Given the description of an element on the screen output the (x, y) to click on. 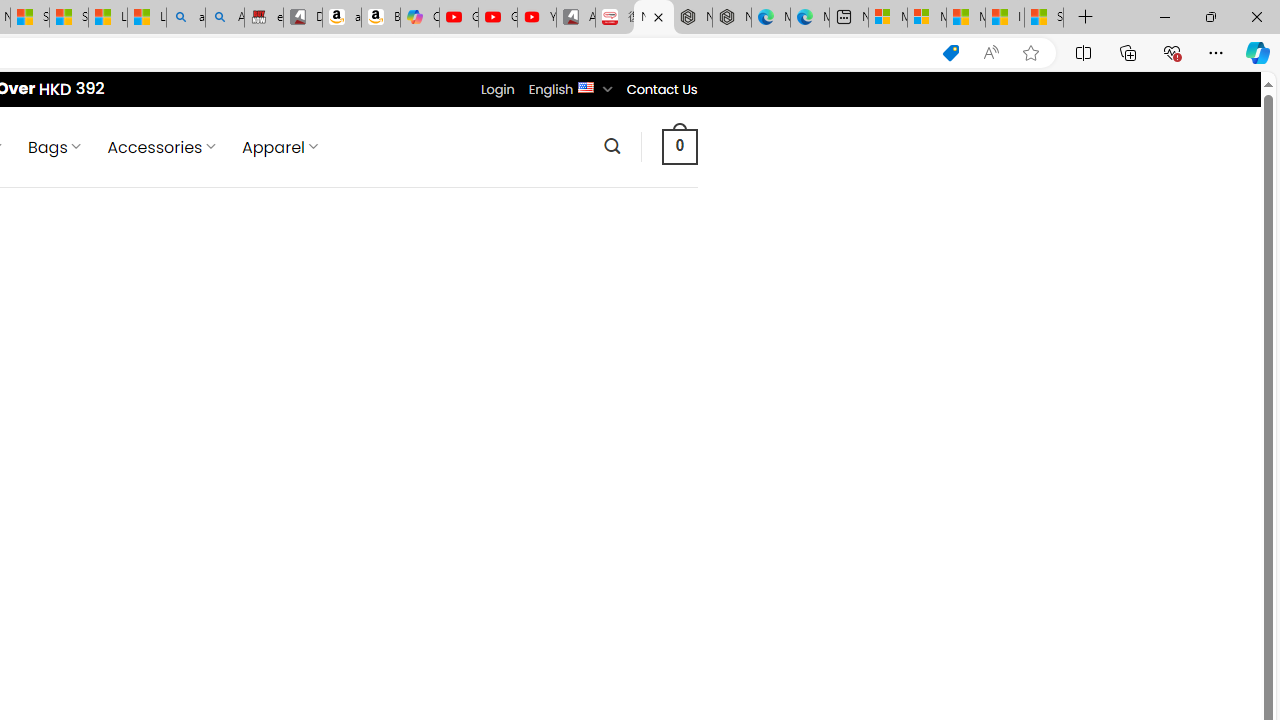
Gloom - YouTube (497, 17)
English (586, 86)
This site has coupons! Shopping in Microsoft Edge (950, 53)
Contact Us (661, 89)
Minimize (1164, 16)
